Given the description of an element on the screen output the (x, y) to click on. 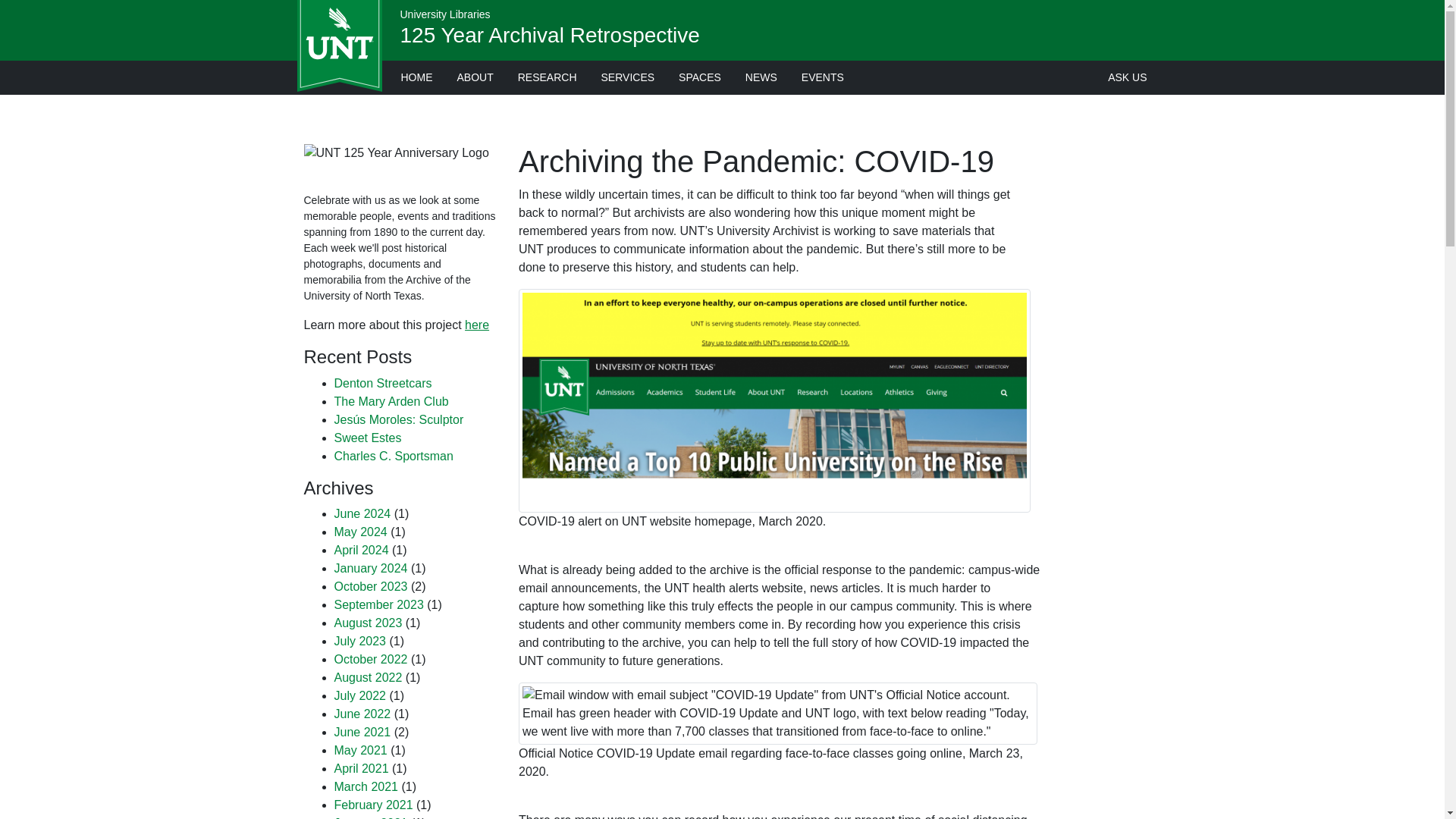
here (476, 324)
SPACES (699, 77)
ASK US (1127, 77)
RESEARCH (547, 77)
SERVICES (627, 77)
HOME (416, 77)
EVENTS (822, 77)
University Libraries (445, 14)
Denton Streetcars (381, 382)
The Mary Arden Club (390, 400)
NEWS (761, 77)
125 Year Archival Retrospective (550, 34)
ABOUT (474, 77)
